Given the description of an element on the screen output the (x, y) to click on. 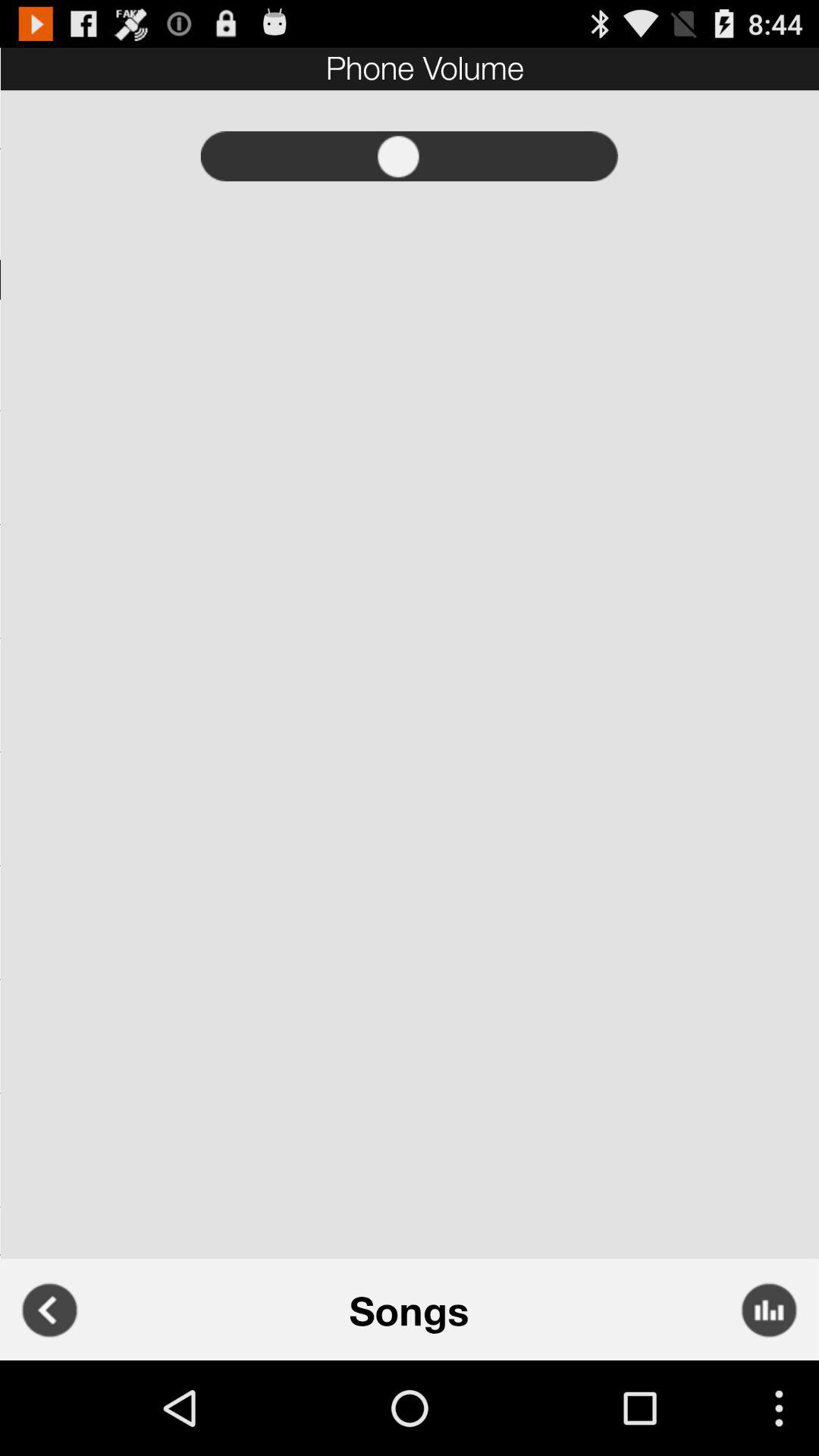
go to record option (409, 156)
